Given the description of an element on the screen output the (x, y) to click on. 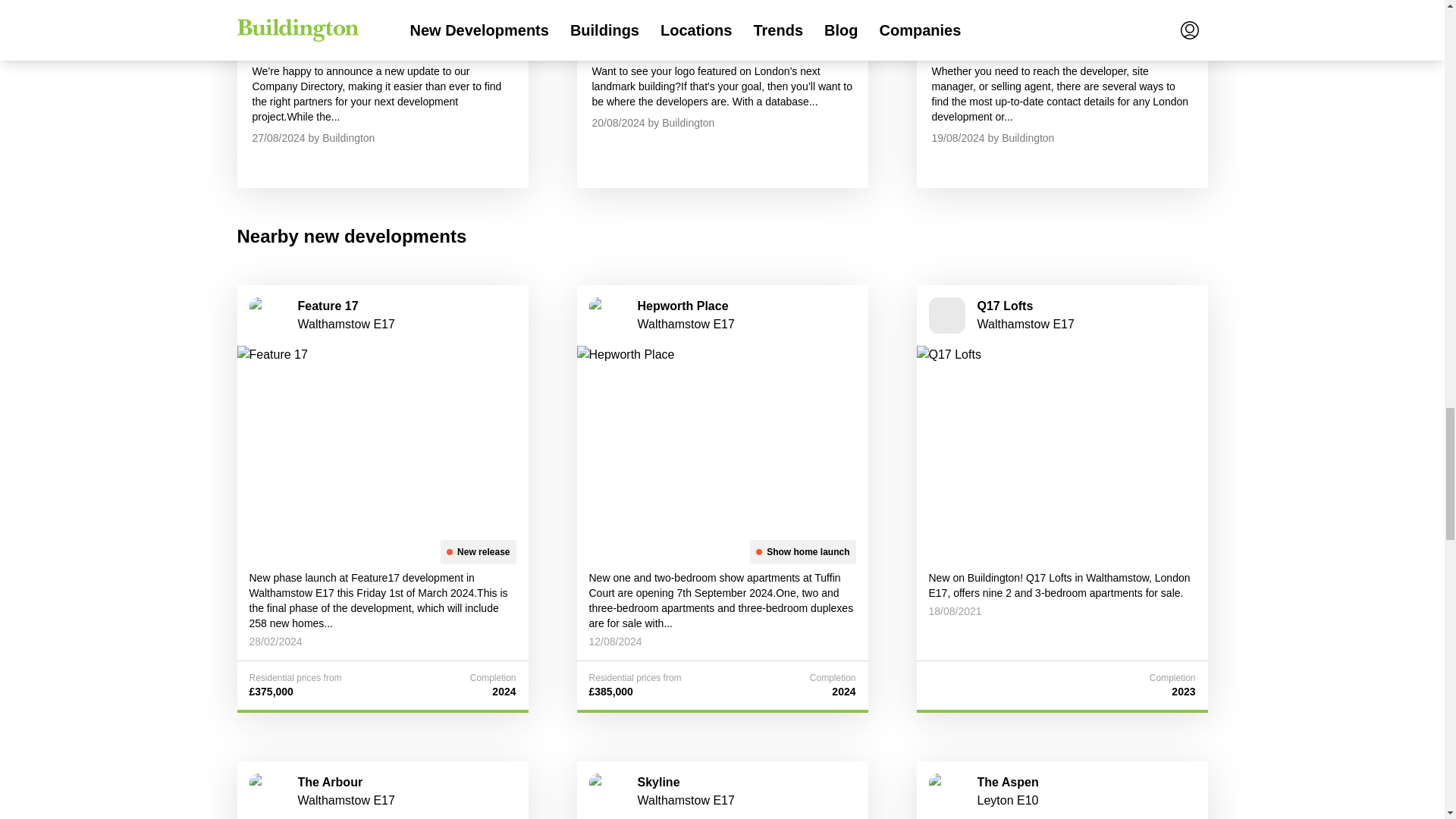
Feature 17 (327, 305)
New A-Z sorting feature in the Company Directory (381, 15)
Q17 Lofts (1061, 436)
Hepworth Place (721, 436)
Walthamstow E17 (345, 323)
Feature 17 (381, 436)
Walthamstow E17 (685, 323)
Hepworth Place (682, 305)
Q17 Lofts (1004, 305)
